Given the description of an element on the screen output the (x, y) to click on. 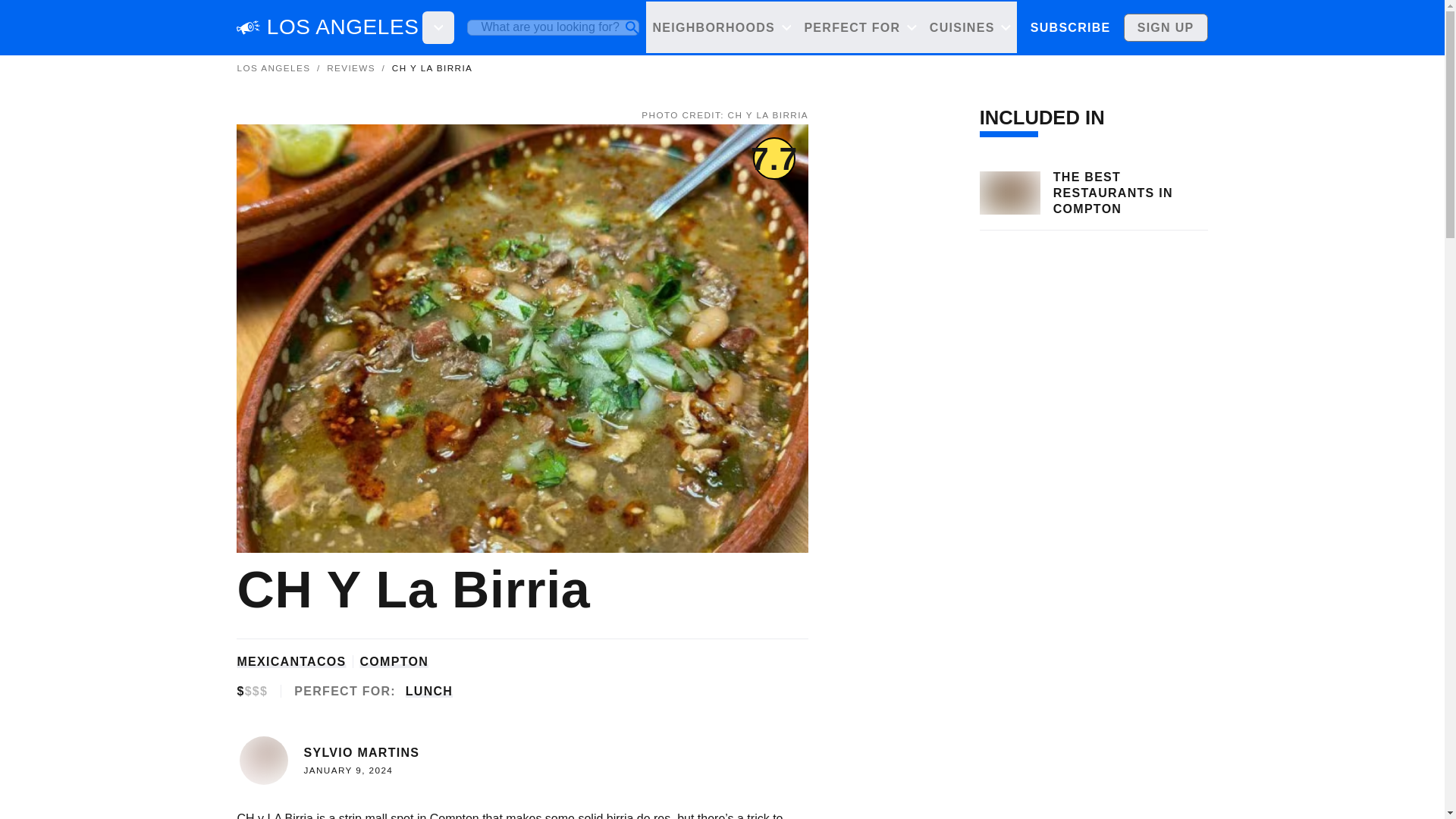
What are you looking for? (553, 27)
COMPTON (393, 661)
LUNCH (429, 691)
LOS ANGELES (272, 67)
LOS ANGELES (342, 26)
TACOS (322, 661)
SUBSCRIBE (1069, 27)
CUISINES (969, 27)
REVIEWS (350, 67)
MEXICAN (267, 661)
